Given the description of an element on the screen output the (x, y) to click on. 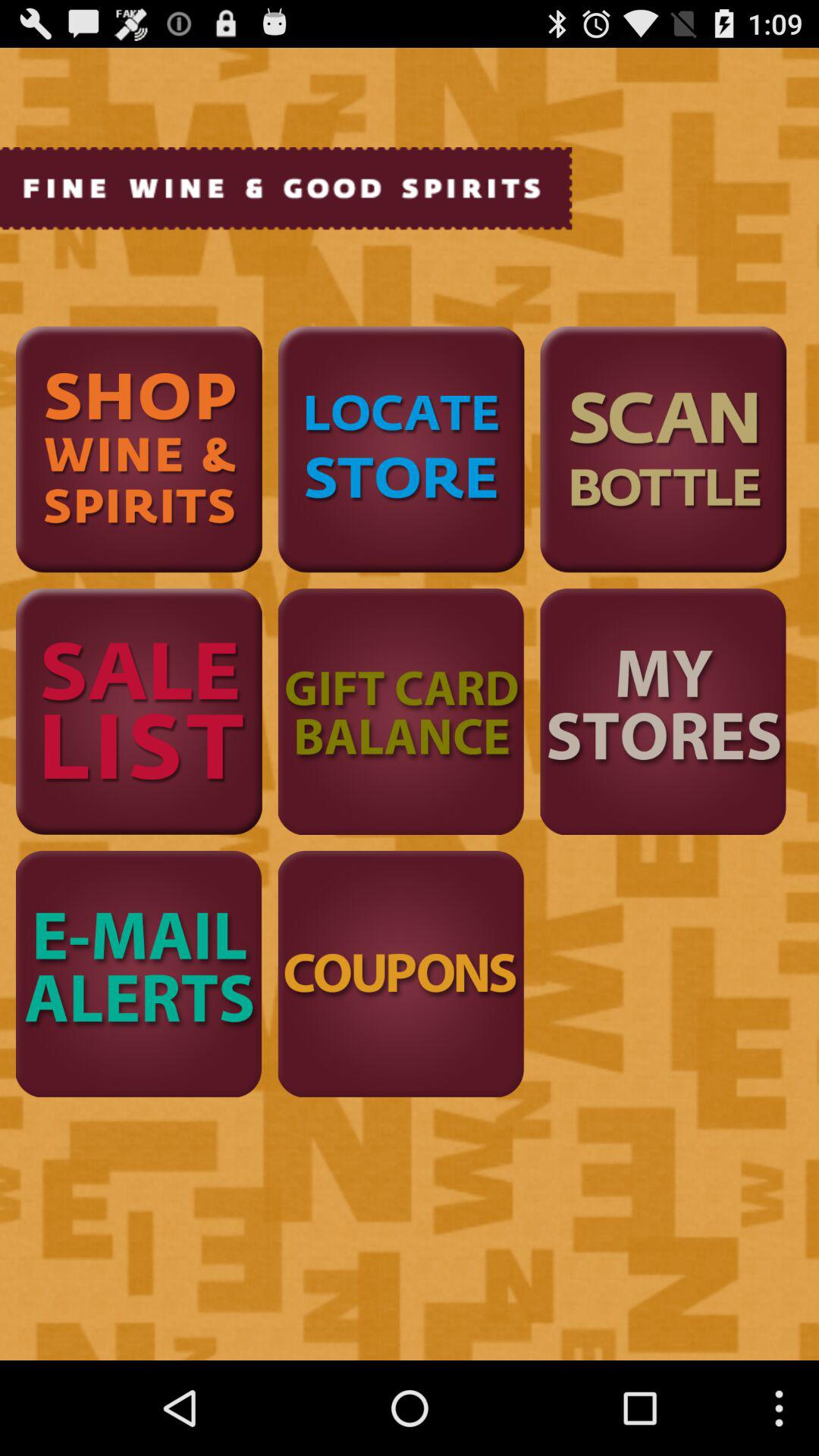
shop wine spirits (138, 449)
